Given the description of an element on the screen output the (x, y) to click on. 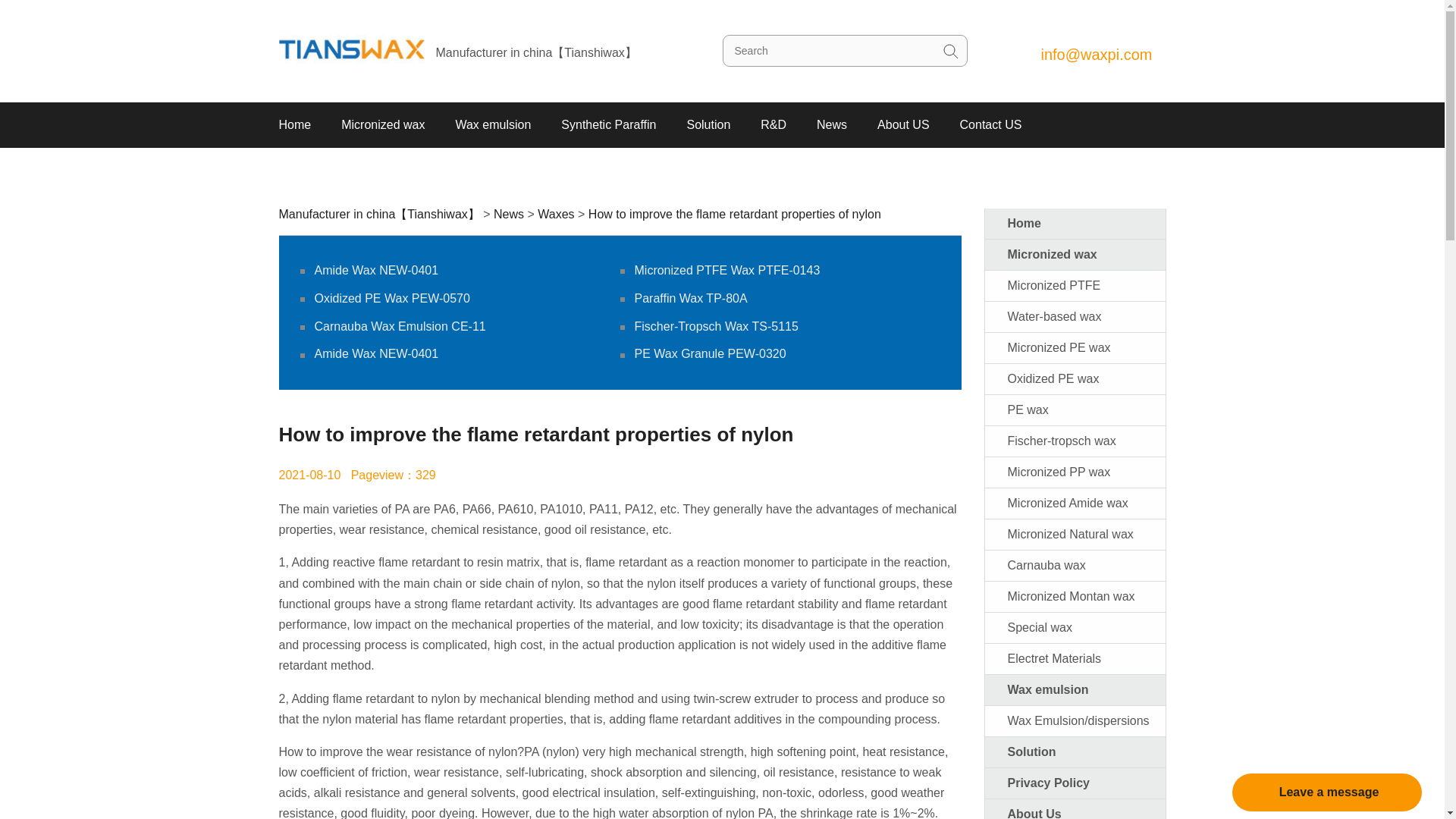
Wax emulsion (492, 125)
Go to the News category archives. (508, 214)
About US (902, 125)
Solution (707, 125)
Micronized wax (382, 125)
Go to the Waxes category archives. (555, 214)
Synthetic Paraffin (608, 125)
